Given the description of an element on the screen output the (x, y) to click on. 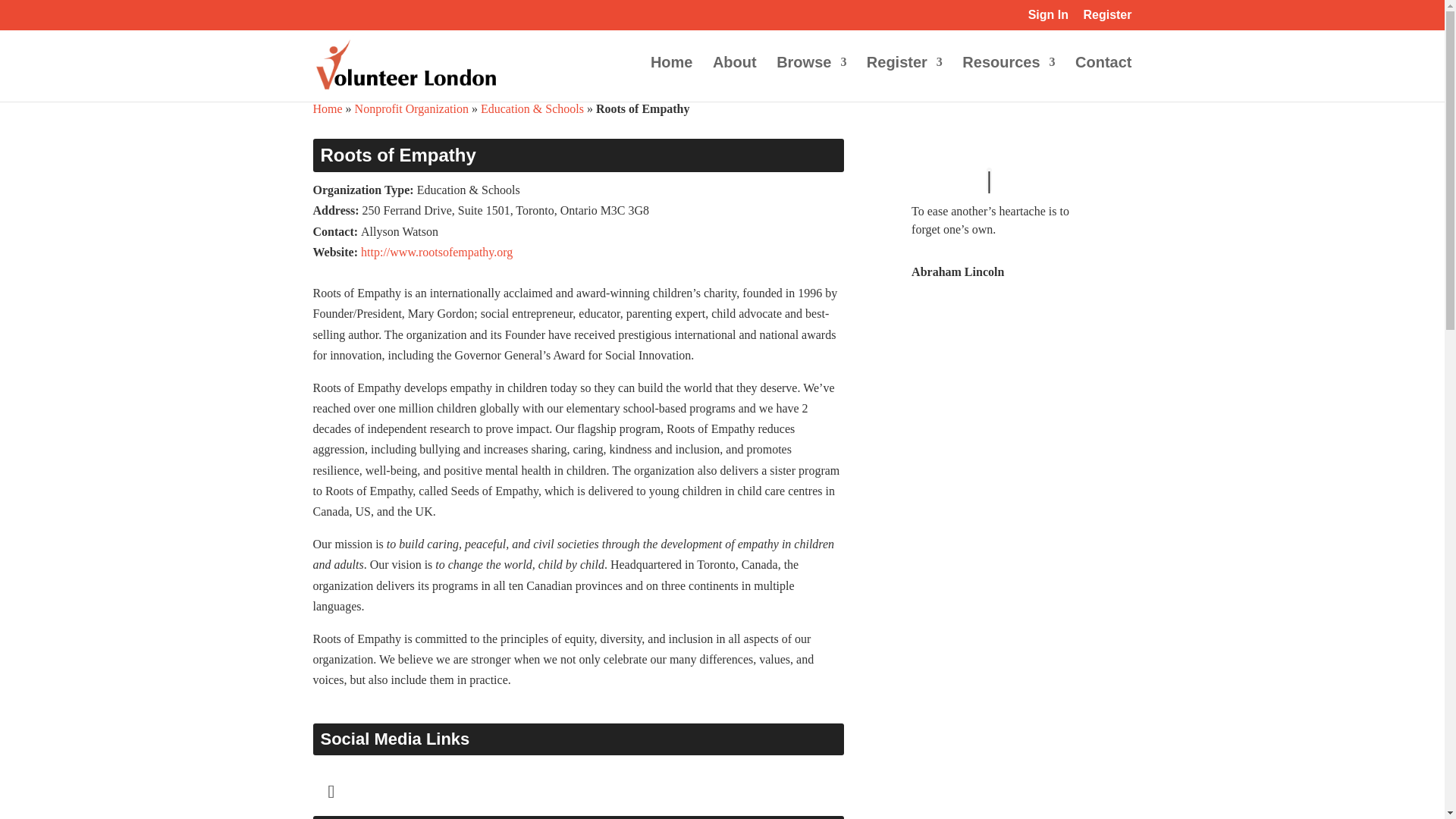
Register (1107, 19)
Browse (810, 78)
Home (671, 78)
About (735, 78)
Sign In (1047, 19)
Resources (1008, 78)
Contact (1103, 78)
Register (904, 78)
Home (327, 108)
Nonprofit Organization (411, 108)
